Given the description of an element on the screen output the (x, y) to click on. 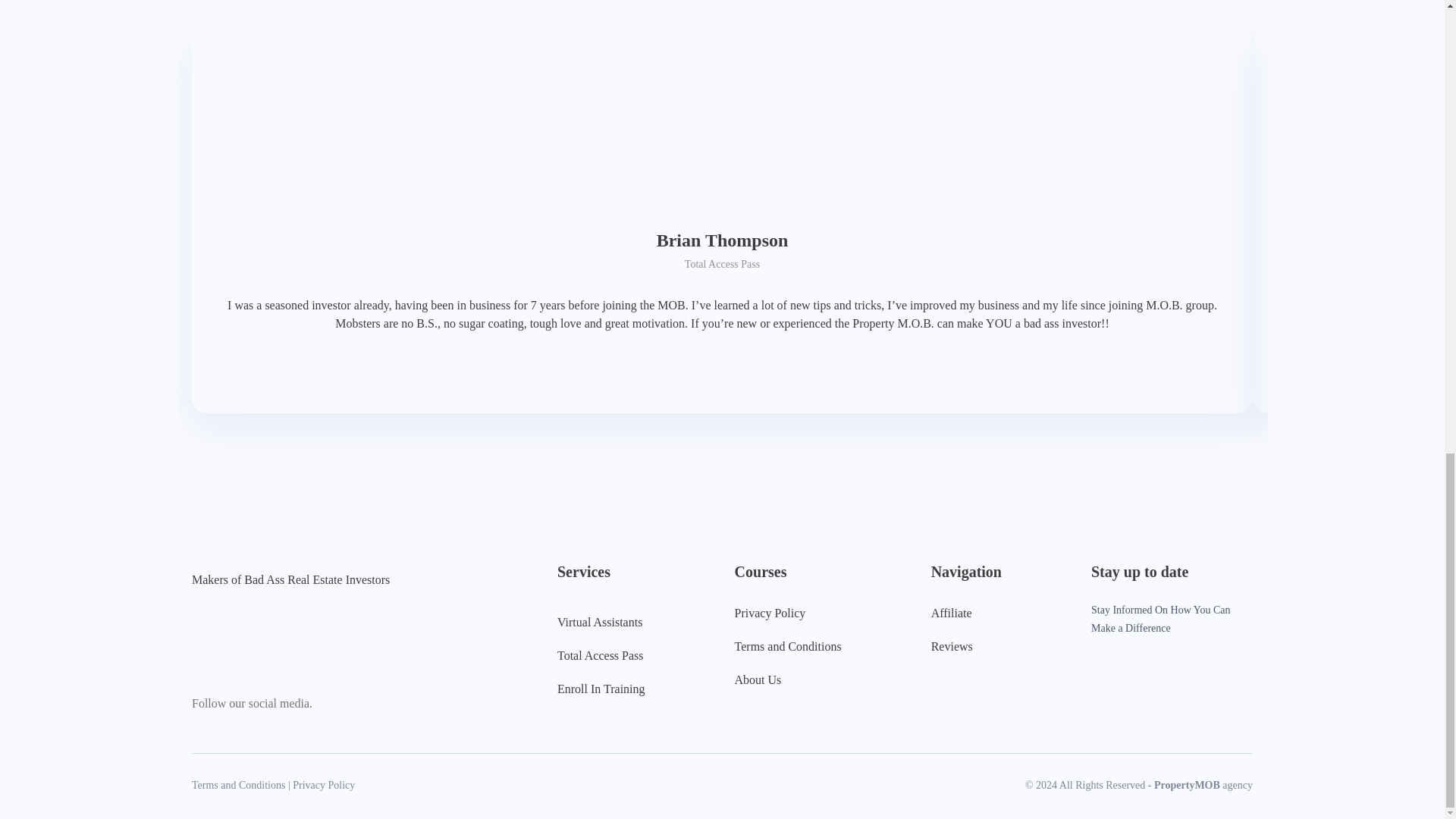
Enroll In Training (601, 688)
Reviews (951, 645)
Virtual Assistants (601, 621)
About Us (788, 679)
Terms and Conditions (788, 645)
Privacy Policy (788, 612)
Total Access Pass (601, 654)
Affiliate (951, 612)
